Given the description of an element on the screen output the (x, y) to click on. 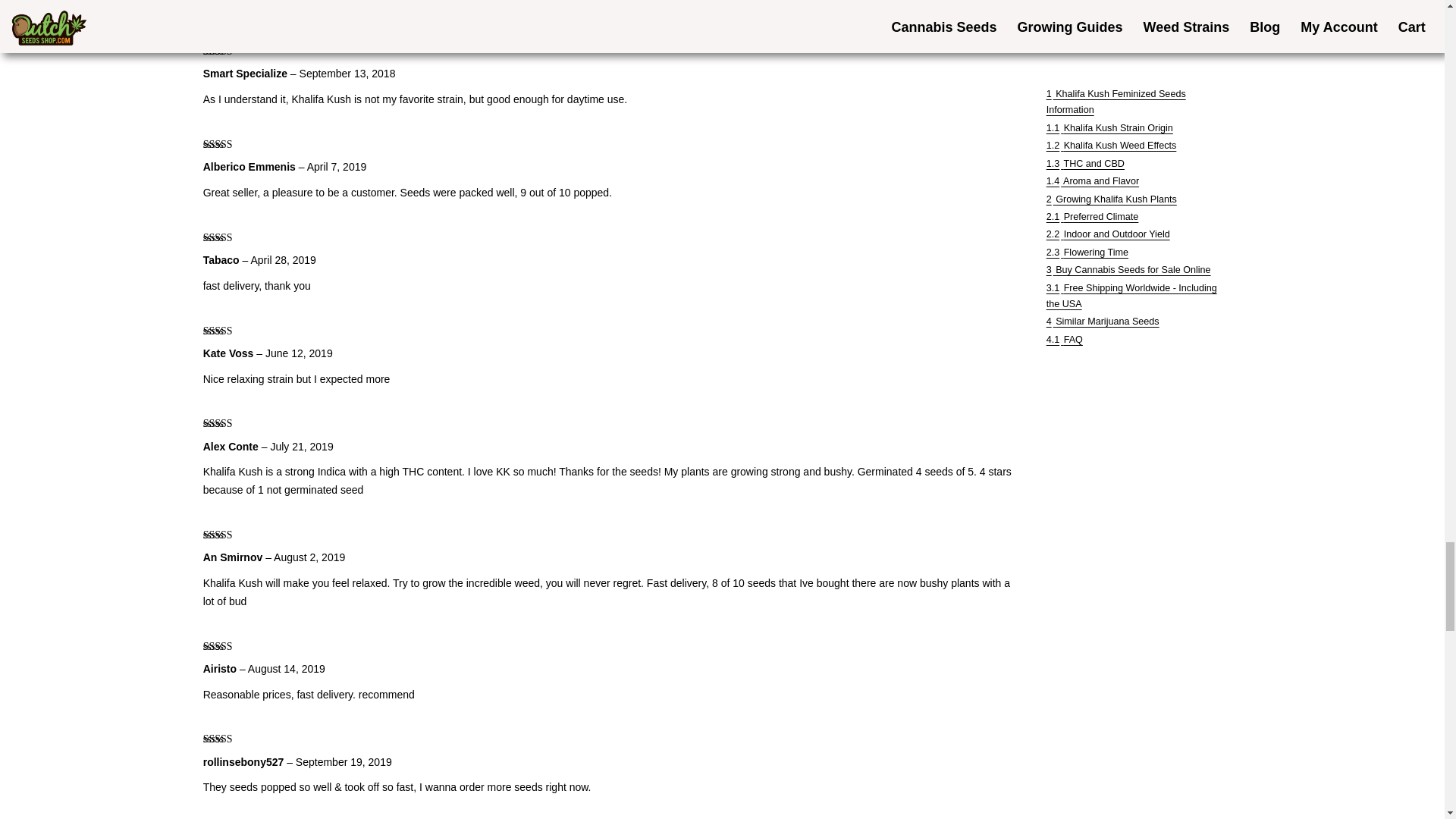
Rated 4 out of 5 (231, 50)
Rated 4 out of 5 (231, 738)
Rated 5 out of 5 (231, 144)
Rated 5 out of 5 (231, 534)
Rated 5 out of 5 (231, 646)
Rated 4 out of 5 (231, 423)
Rated 5 out of 5 (231, 237)
Rated 4 out of 5 (231, 330)
